Given the description of an element on the screen output the (x, y) to click on. 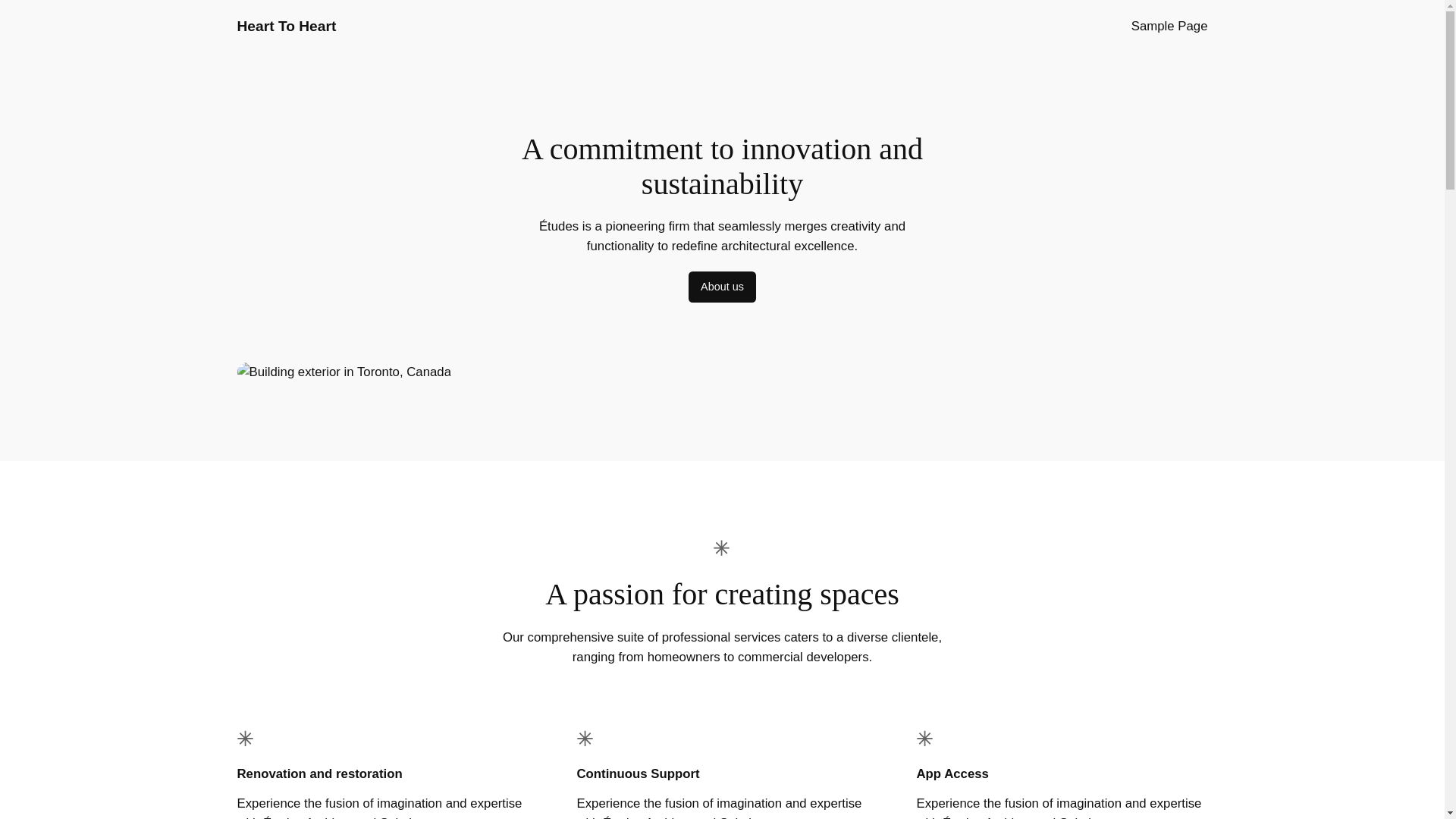
Heart To Heart (285, 26)
About us (721, 287)
Sample Page (1169, 26)
